Given the description of an element on the screen output the (x, y) to click on. 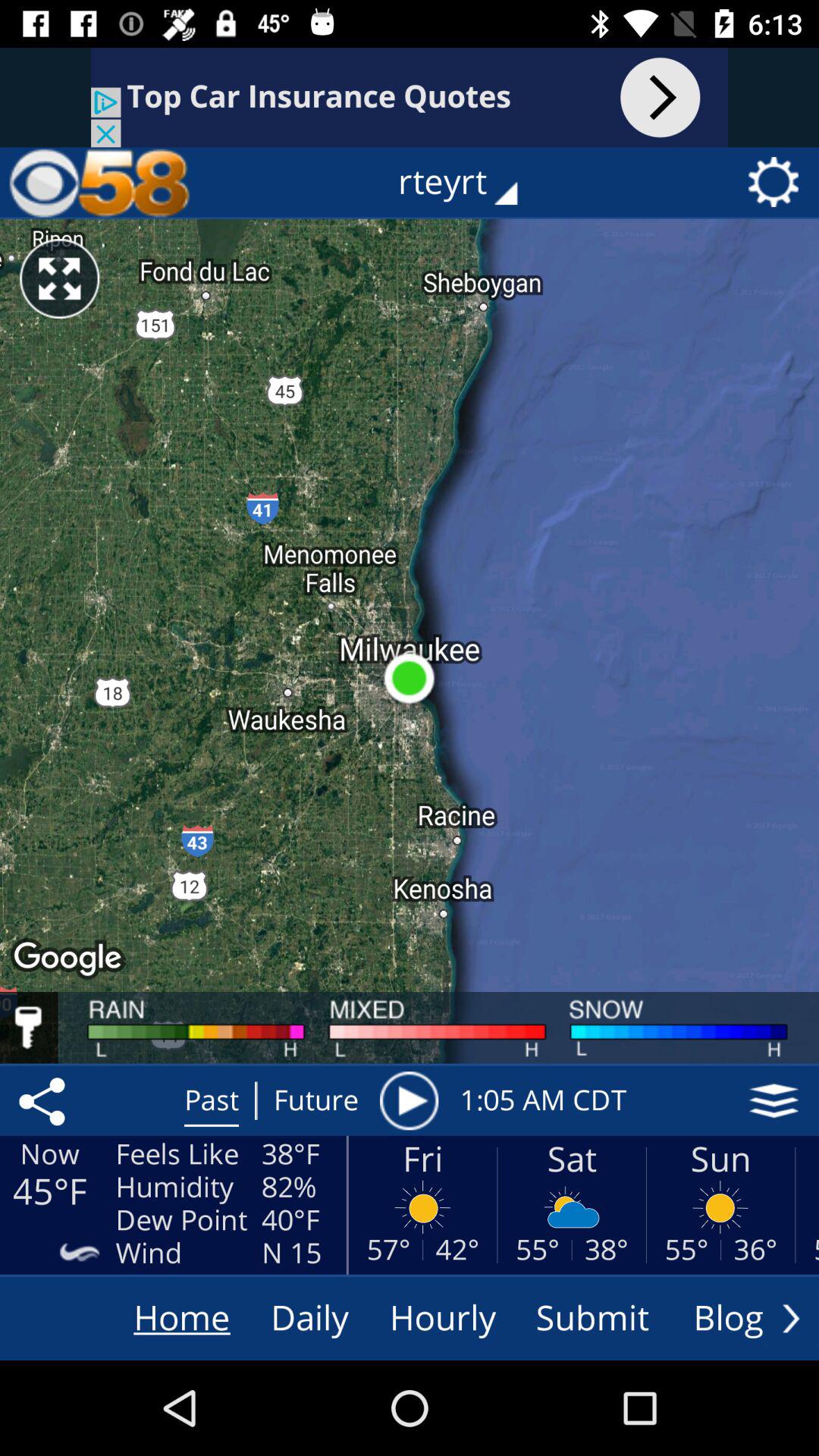
view layers (774, 1100)
